Given the description of an element on the screen output the (x, y) to click on. 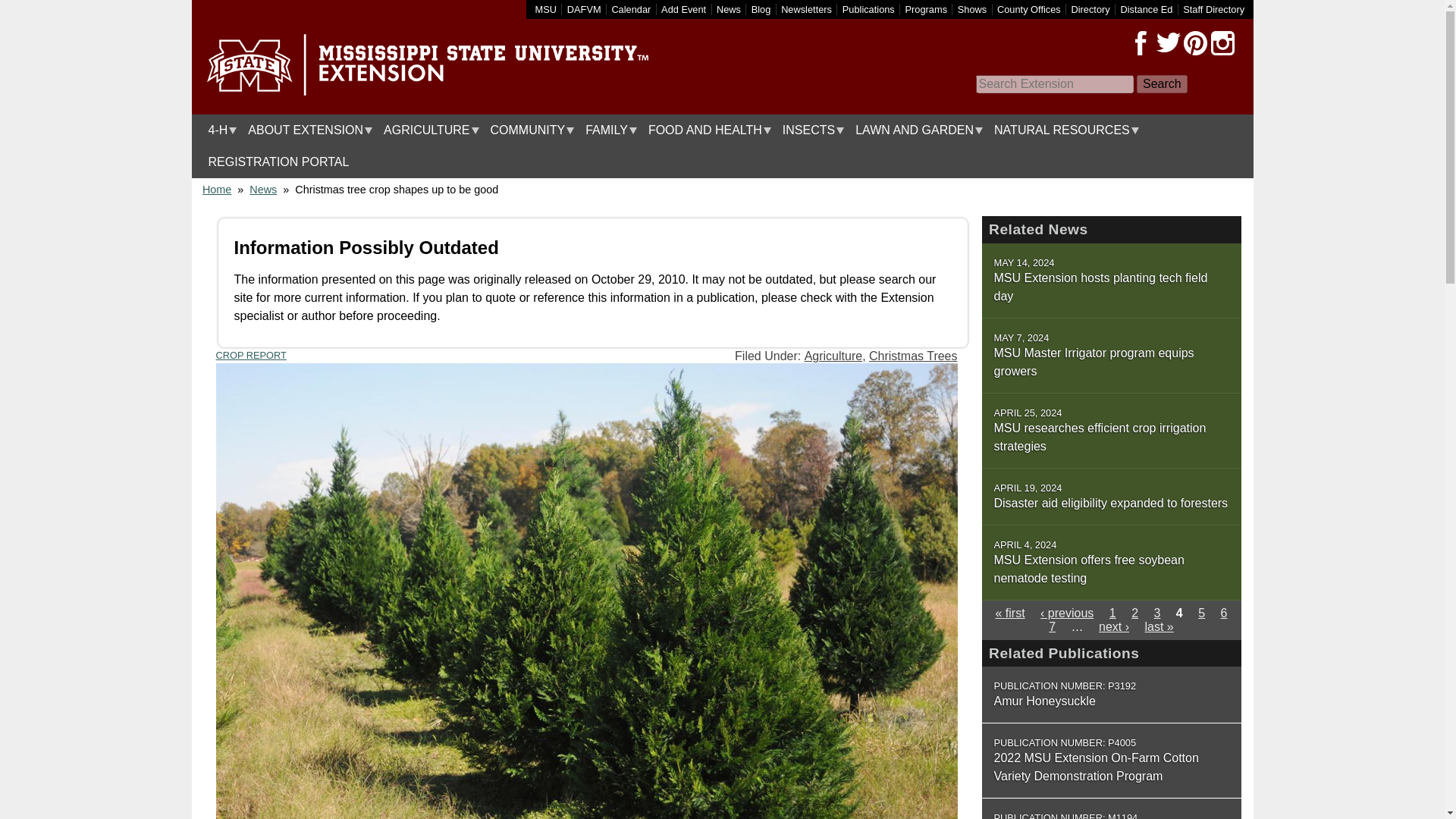
Shows (972, 9)
Add Event (683, 9)
Newsletters (805, 9)
DAFVM (584, 9)
Calendar (630, 9)
County Offices (1029, 9)
MSU (545, 9)
Pinterest (1194, 43)
Link to Mississippi State University (545, 9)
Publications (869, 9)
4-H (218, 130)
List of Extension Programs (926, 9)
Facebook (1140, 43)
